Given the description of an element on the screen output the (x, y) to click on. 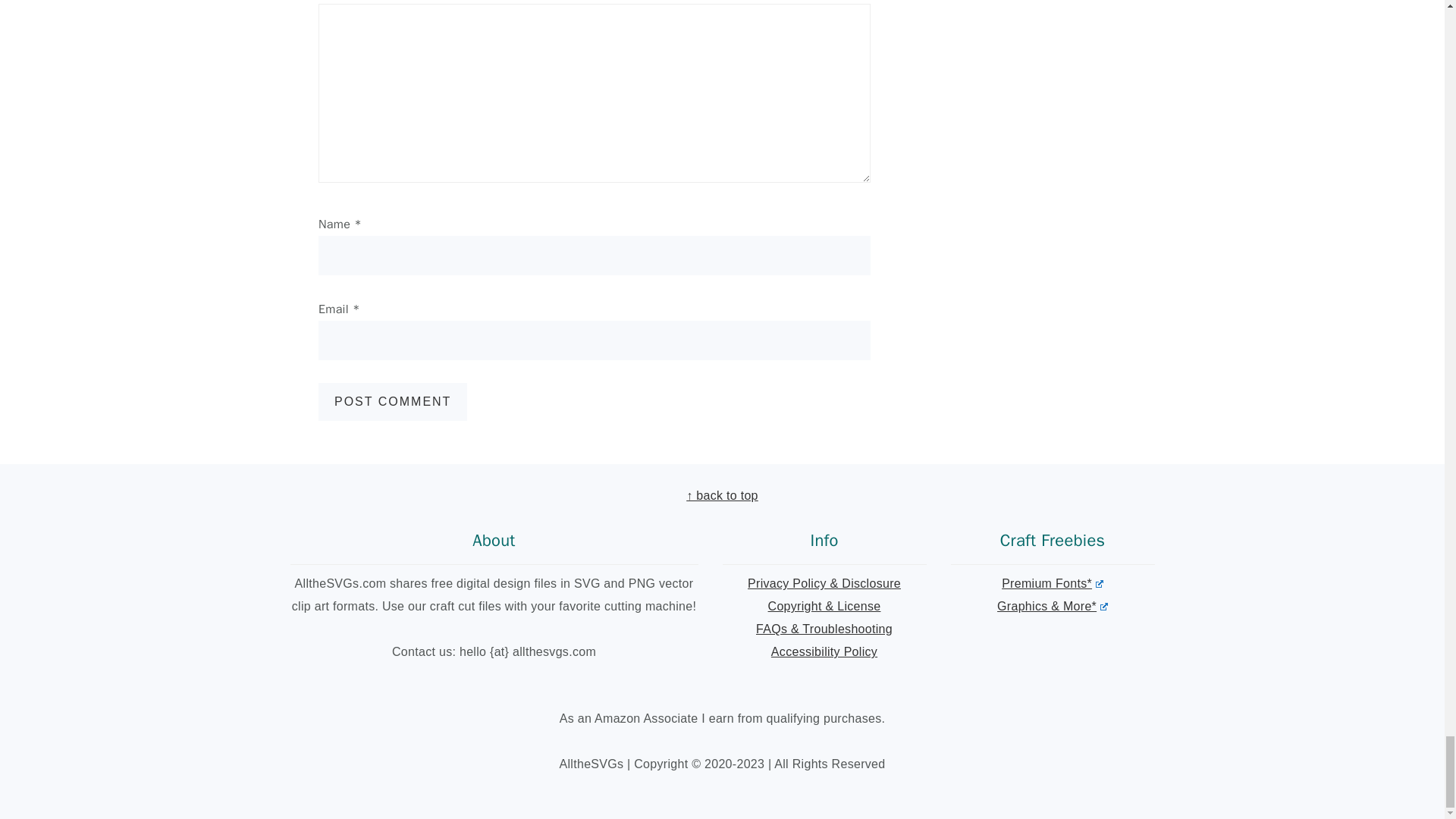
Post Comment (392, 401)
